Given the description of an element on the screen output the (x, y) to click on. 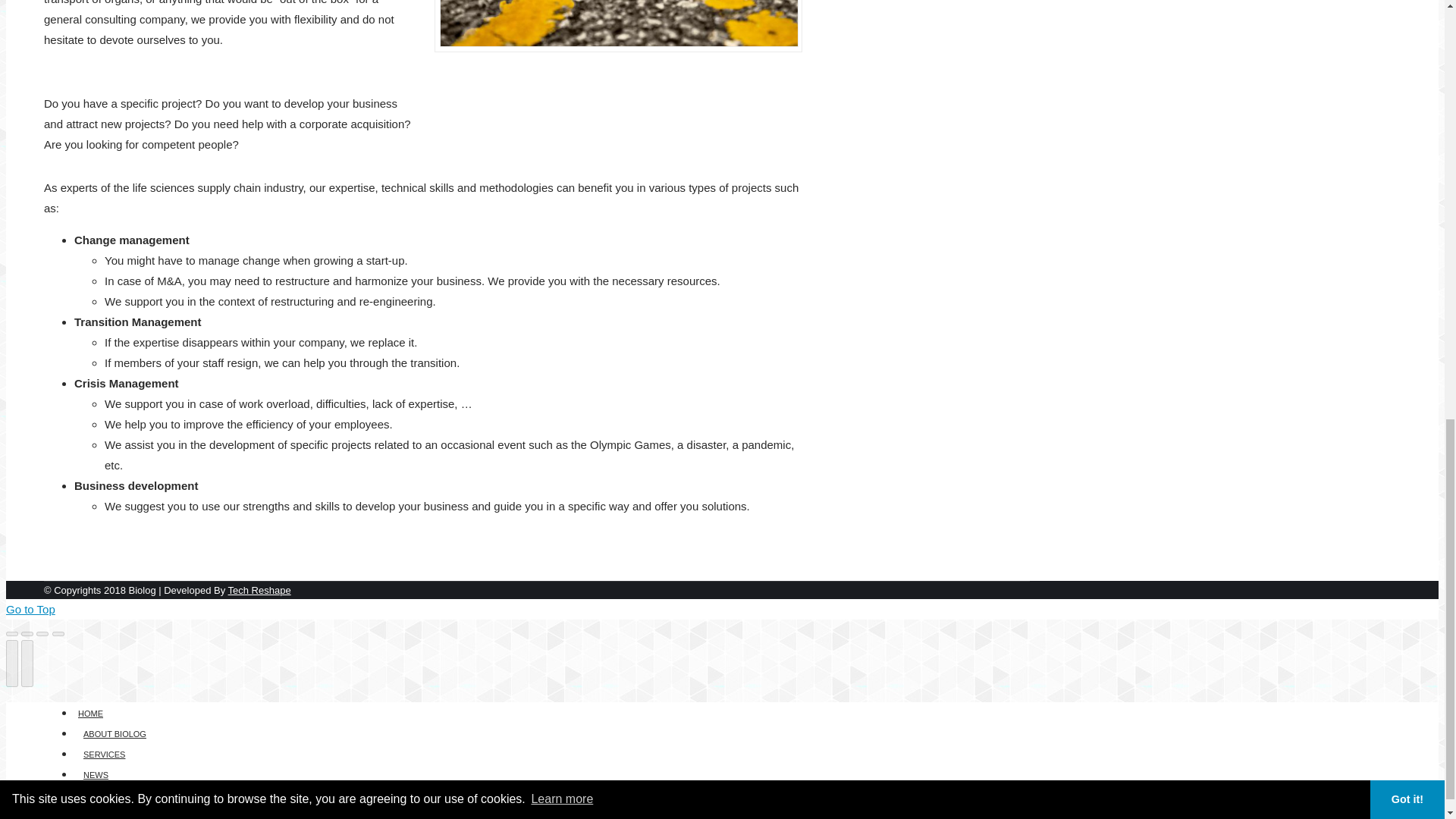
NEWS (96, 773)
Tech Reshape (259, 590)
Toggle fullscreen (42, 633)
ABOUT BIOLOG (114, 732)
Go to Top (30, 608)
HOME (90, 711)
JOIN BIOLOG CONSULTING (138, 793)
Share (27, 633)
SERVICES (104, 752)
Go to Top (30, 608)
